Given the description of an element on the screen output the (x, y) to click on. 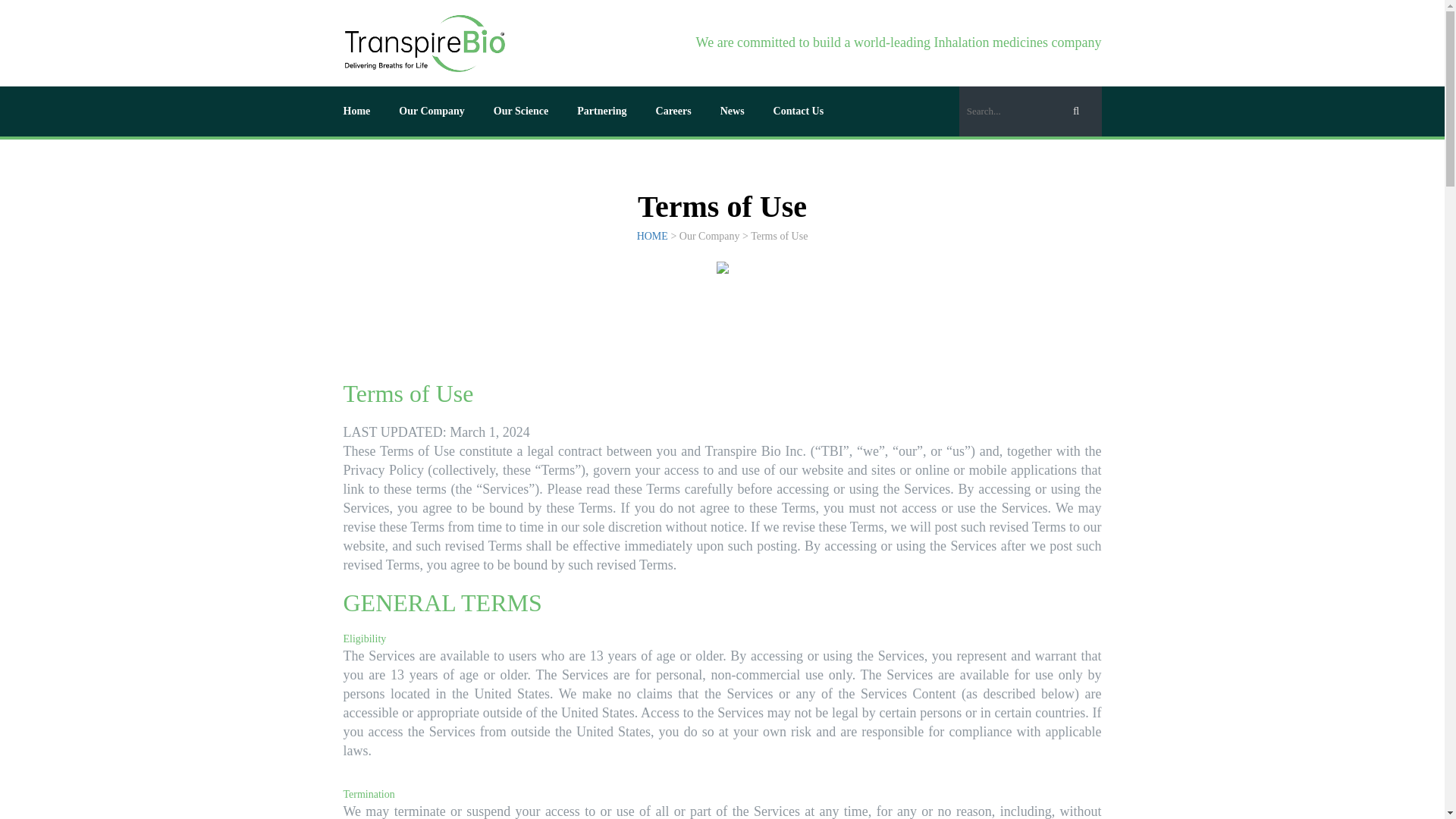
Partnering (601, 111)
News (732, 111)
Contact Us (798, 111)
Our Company (431, 111)
Careers (674, 111)
Our Science (520, 111)
HOME (652, 235)
